Given the description of an element on the screen output the (x, y) to click on. 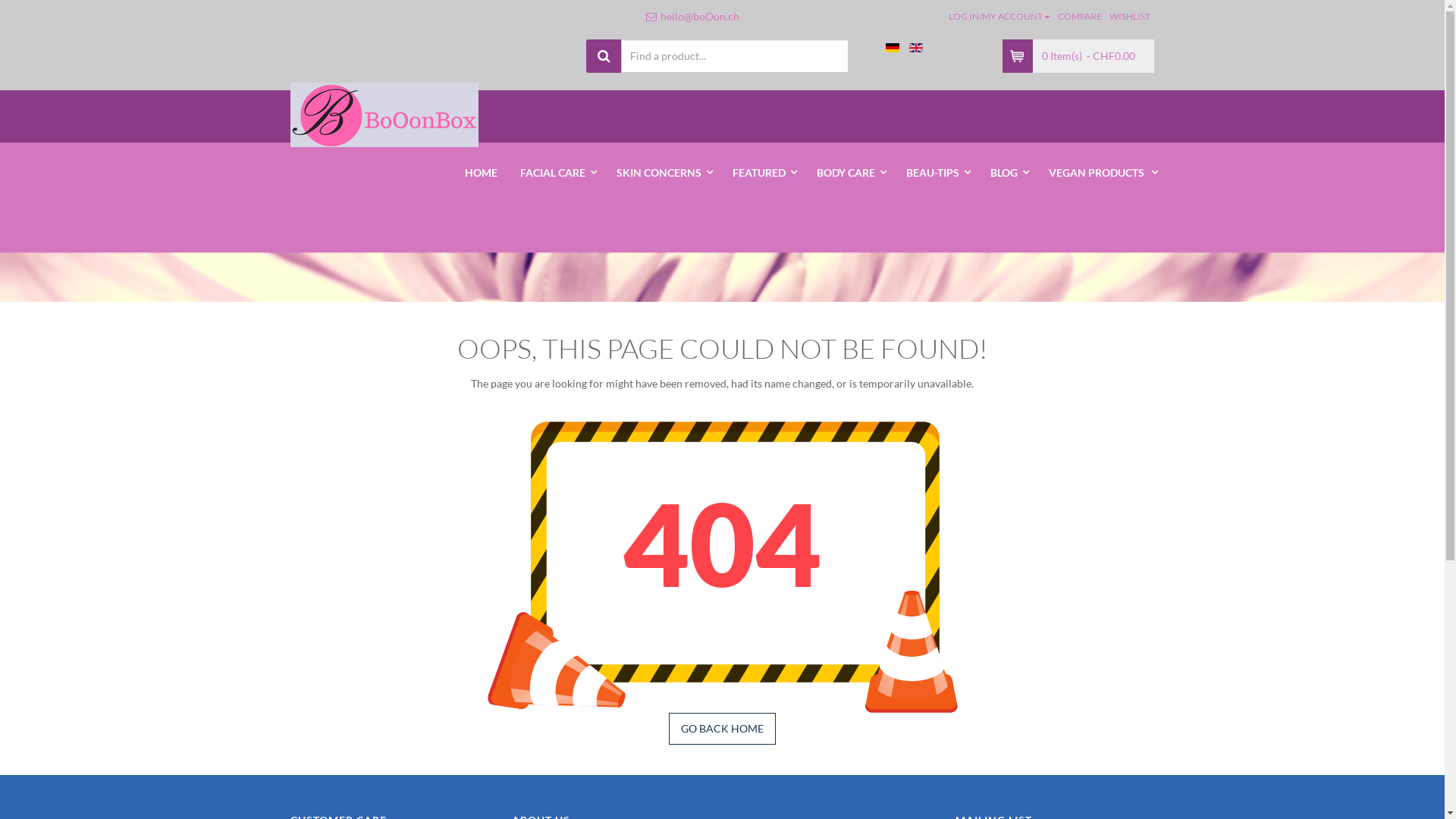
GO BACK HOME Element type: text (721, 728)
WISHLIST Element type: text (1129, 16)
COMPARE Element type: text (1079, 16)
English (UK) Element type: hover (915, 47)
HOME Element type: text (480, 172)
VEGAN PRODUCTS Element type: text (1101, 172)
LOG IN/MY ACCOUNT Element type: text (999, 16)
Deutsch (DE) Element type: hover (892, 47)
0 Item(s)  - CHF0.00 Element type: text (1094, 55)
BoOonBox Element type: hover (383, 114)
hello@boOon.ch Element type: text (699, 15)
